Given the description of an element on the screen output the (x, y) to click on. 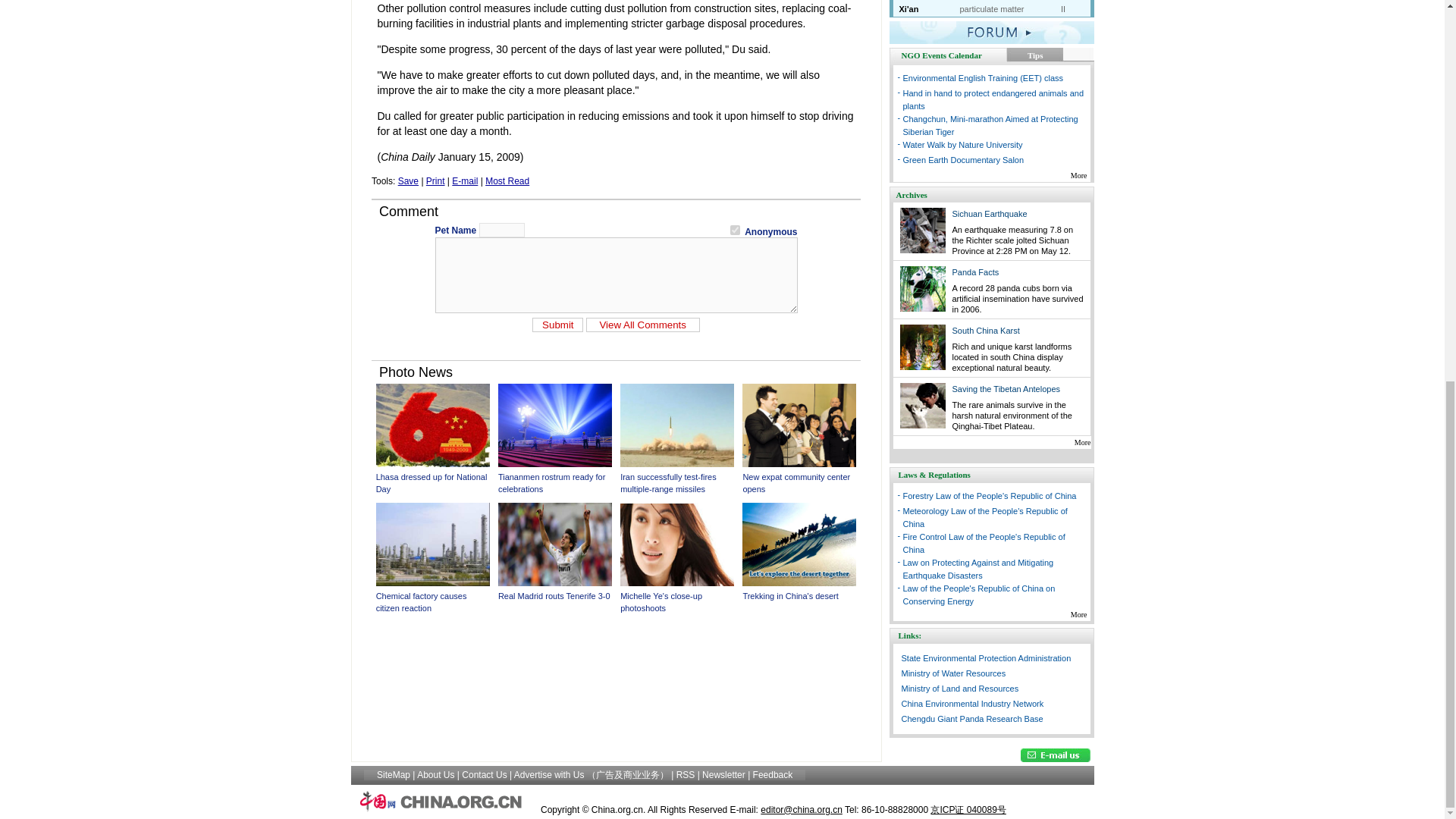
E-mail (464, 181)
Print (435, 181)
Submit (557, 324)
View All Comments (643, 324)
1 (734, 230)
Save (408, 181)
Most Read (506, 181)
